Given the description of an element on the screen output the (x, y) to click on. 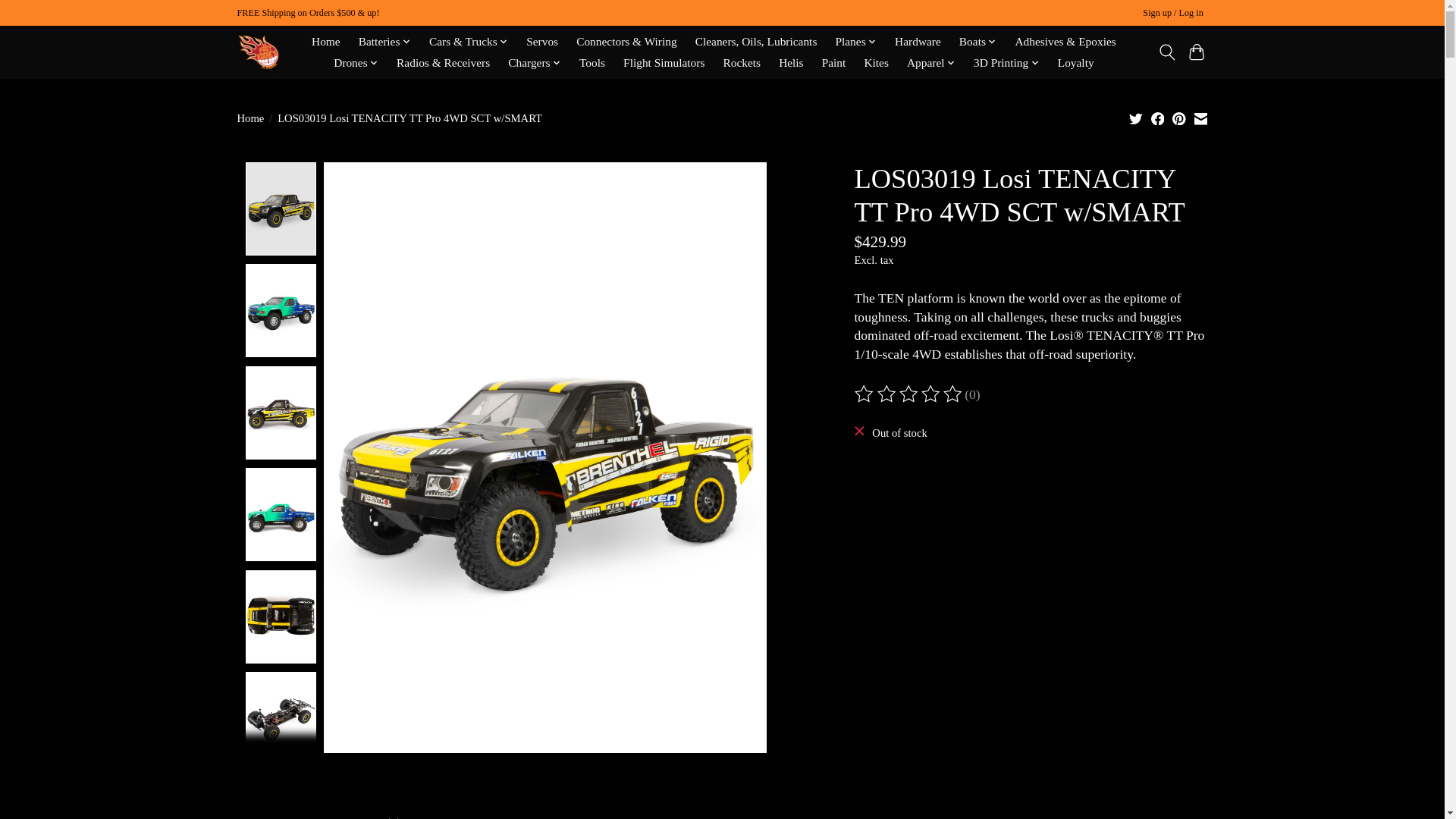
Home (325, 41)
Share on Pinterest (1178, 118)
Boats (978, 41)
Fast Eddie's RC Hobbies (256, 51)
Share on Twitter (1135, 118)
Servos (542, 41)
Share on Facebook (1157, 118)
Tools (591, 62)
Hardware (917, 41)
Drones (356, 62)
Batteries (384, 41)
Planes (855, 41)
Chargers (534, 62)
My account (1173, 13)
Share by Email (1200, 118)
